Given the description of an element on the screen output the (x, y) to click on. 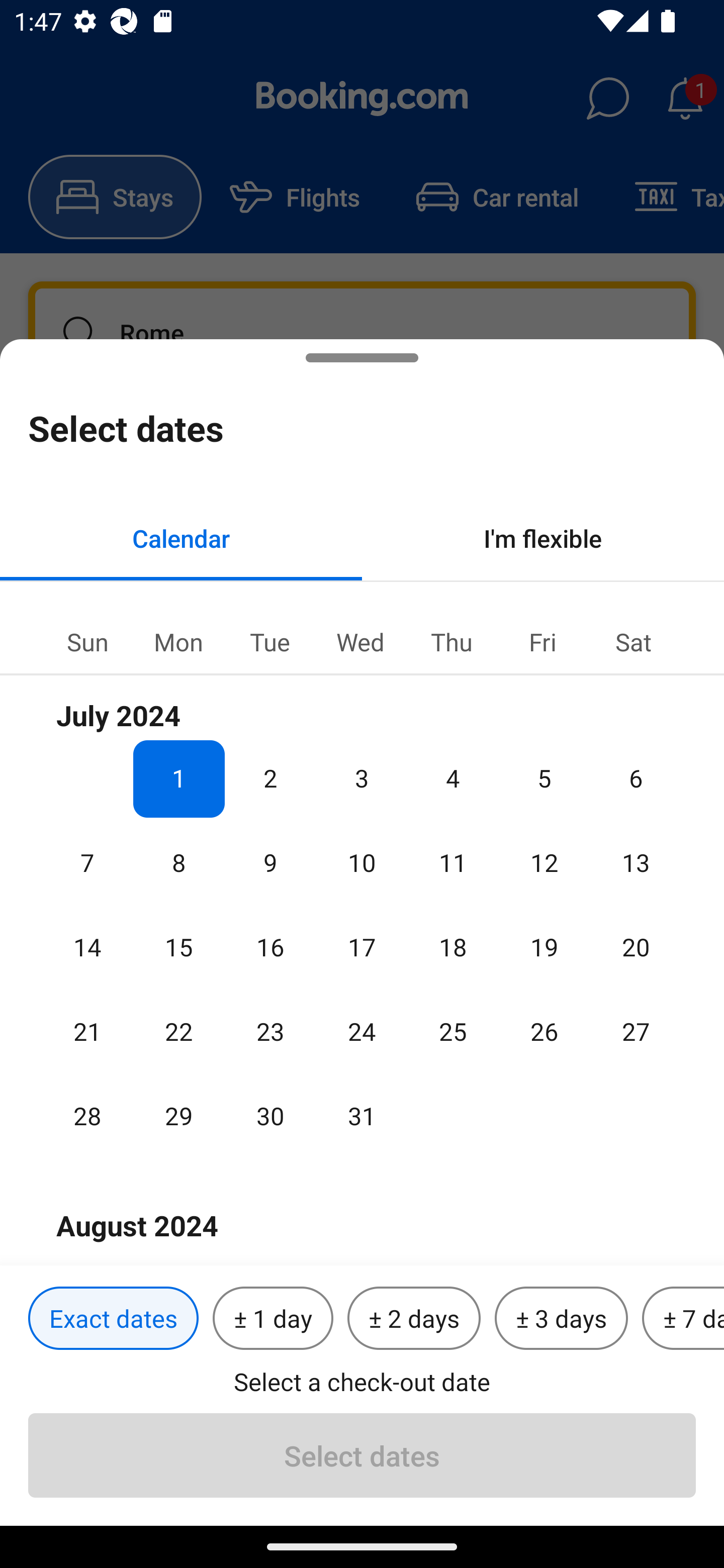
I'm flexible (543, 537)
Exact dates (113, 1318)
± 1 day (272, 1318)
± 2 days (413, 1318)
± 3 days (560, 1318)
± 7 days (683, 1318)
Select dates (361, 1454)
